Given the description of an element on the screen output the (x, y) to click on. 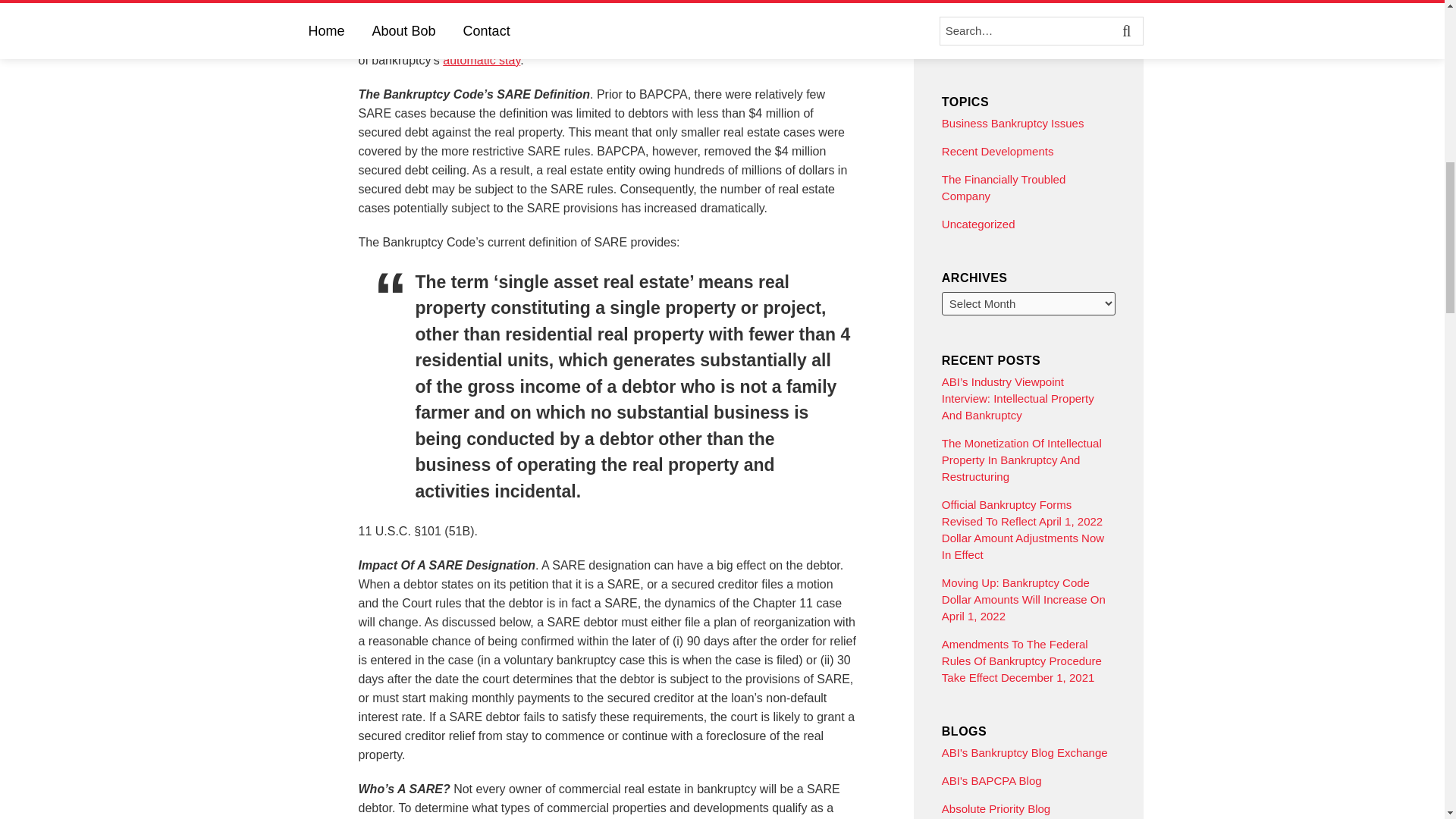
automatic stay (480, 60)
Subscribe (1028, 36)
